Given the description of an element on the screen output the (x, y) to click on. 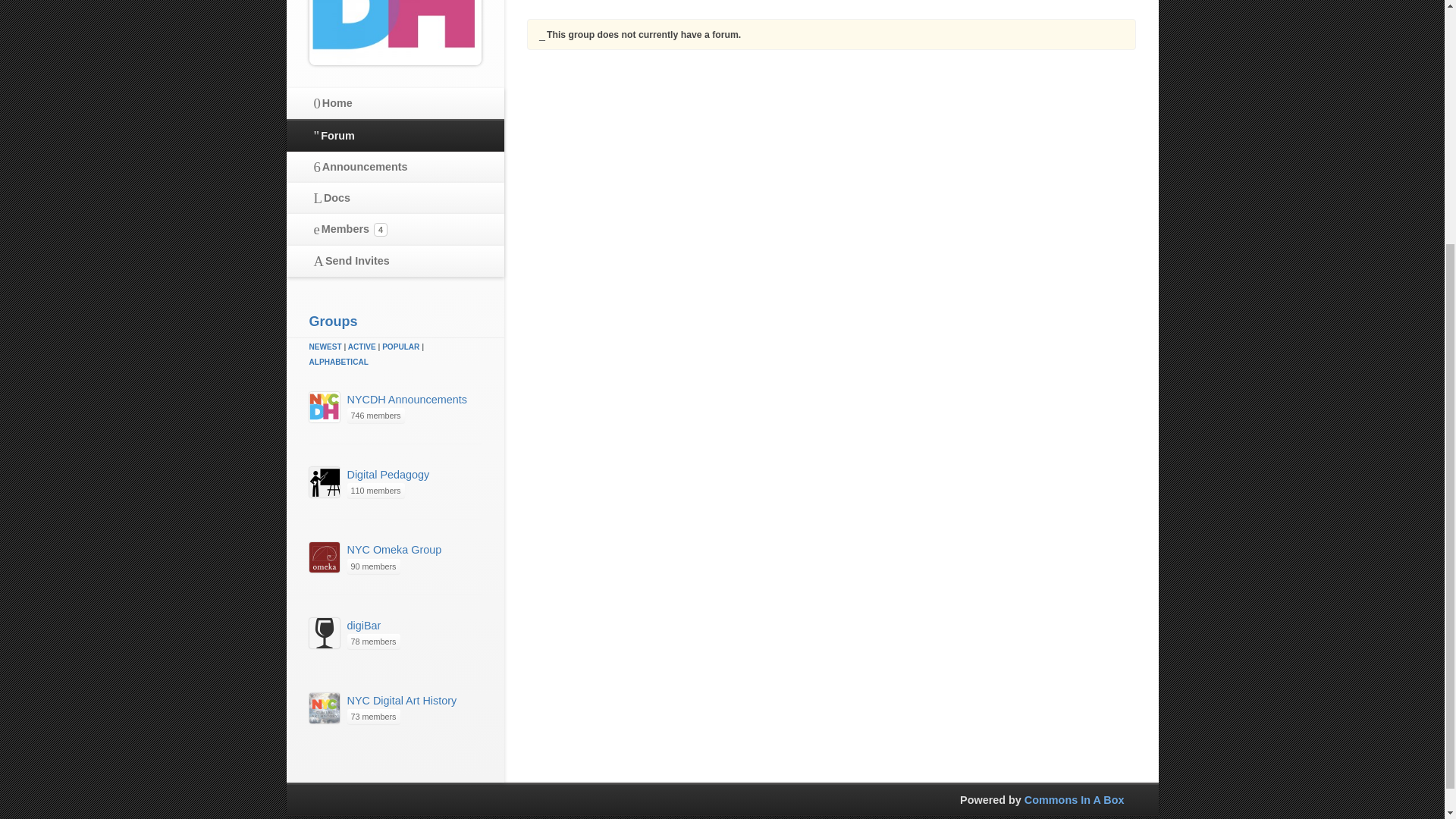
digiBar (364, 625)
ALPHABETICAL (338, 361)
Docs (394, 198)
NYC Omeka Group (394, 549)
Announcements (394, 167)
Members 4 (394, 230)
NYCDH Announcements (407, 399)
POPULAR (400, 346)
Send Invites (394, 261)
Commons In A Box (1074, 799)
